Given the description of an element on the screen output the (x, y) to click on. 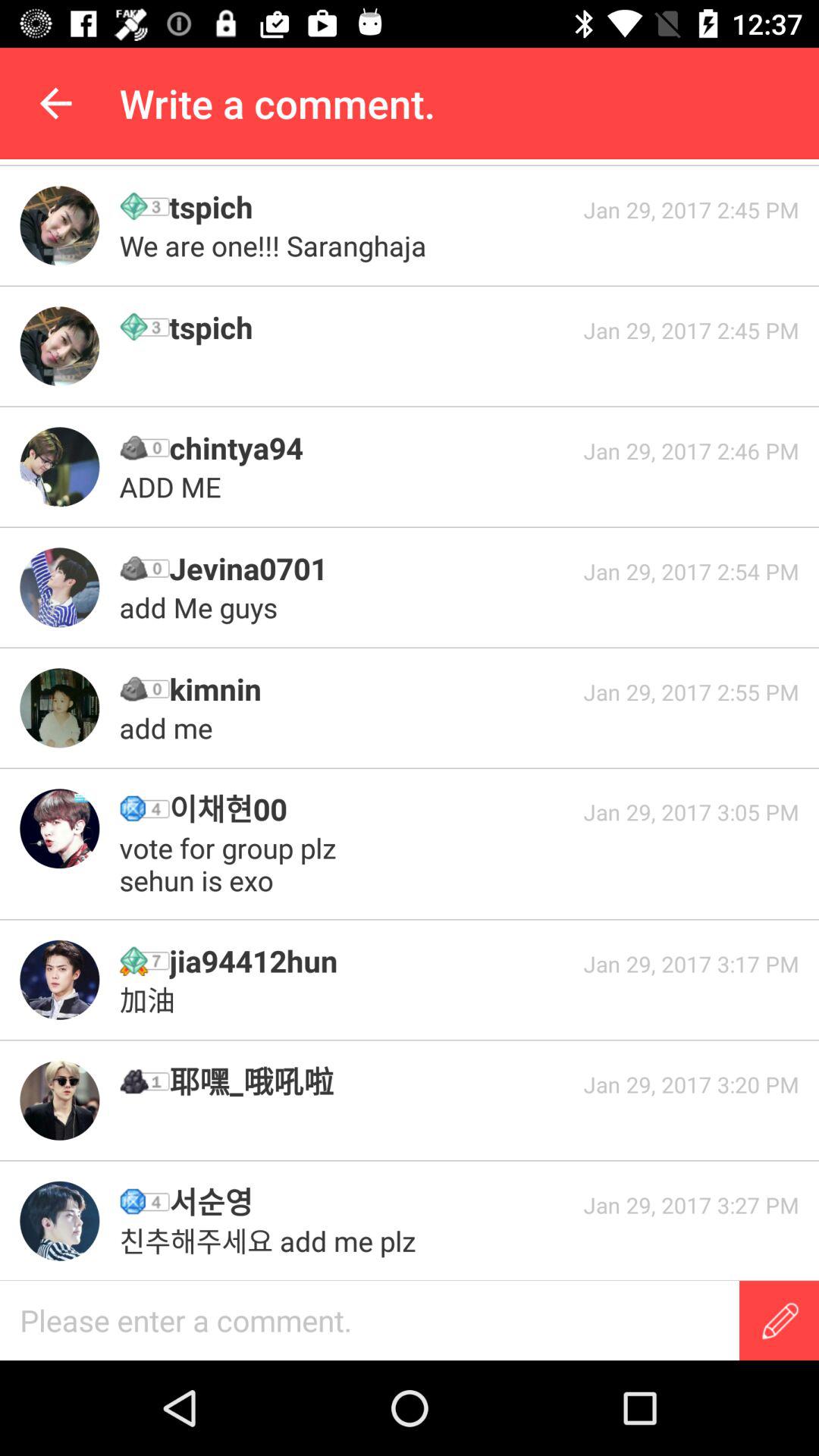
select image (59, 828)
